Given the description of an element on the screen output the (x, y) to click on. 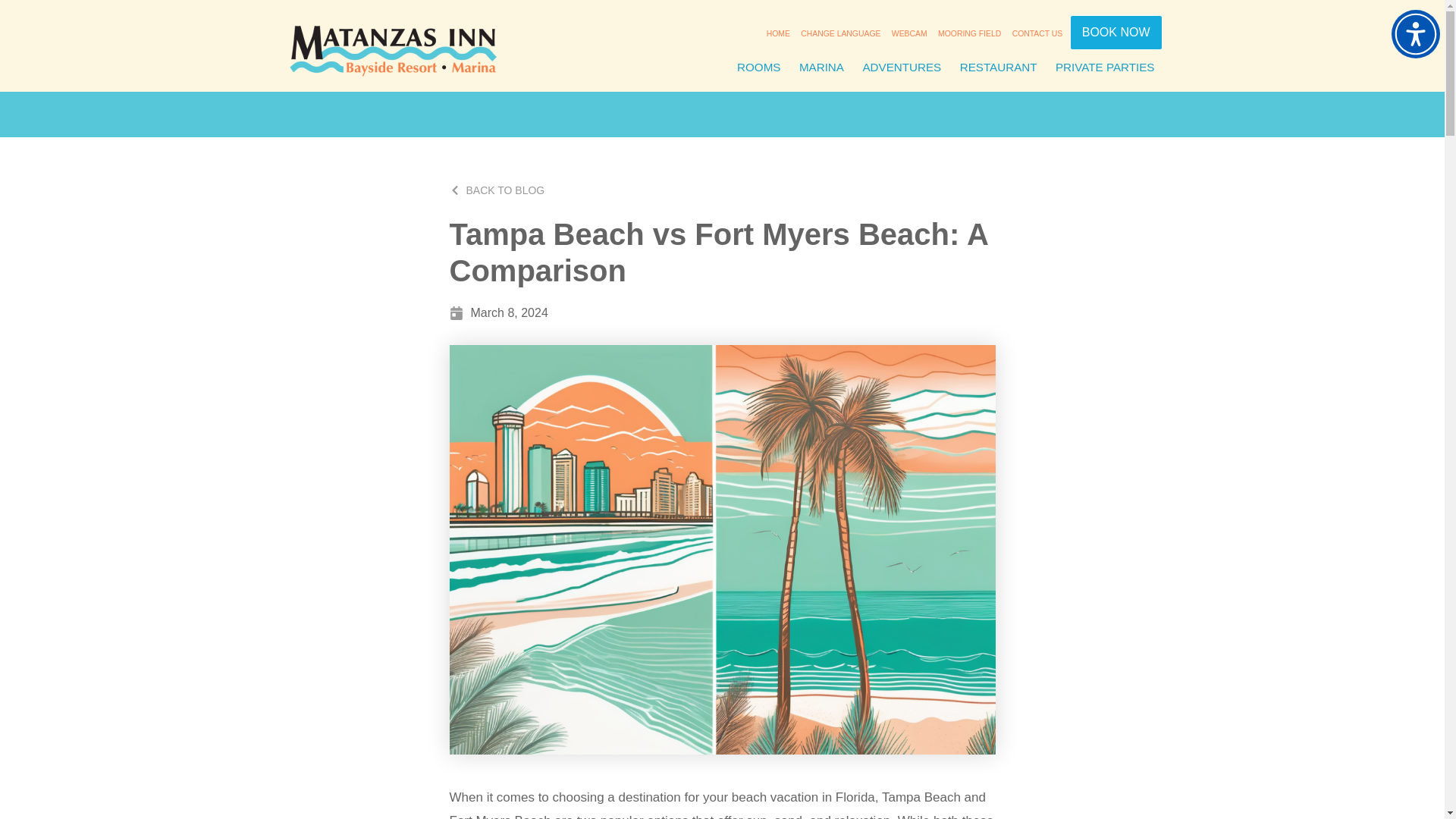
BACK TO BLOG (496, 191)
Accessibility Menu (1415, 33)
RESTAURANT (998, 66)
ADVENTURES (901, 66)
MARINA (821, 66)
WEBCAM (909, 33)
CHANGE LANGUAGE (839, 33)
ROOMS (758, 66)
CONTACT US (1038, 33)
HOME (777, 33)
BOOK NOW (1115, 32)
PRIVATE PARTIES (1104, 66)
MOORING FIELD (969, 33)
